Given the description of an element on the screen output the (x, y) to click on. 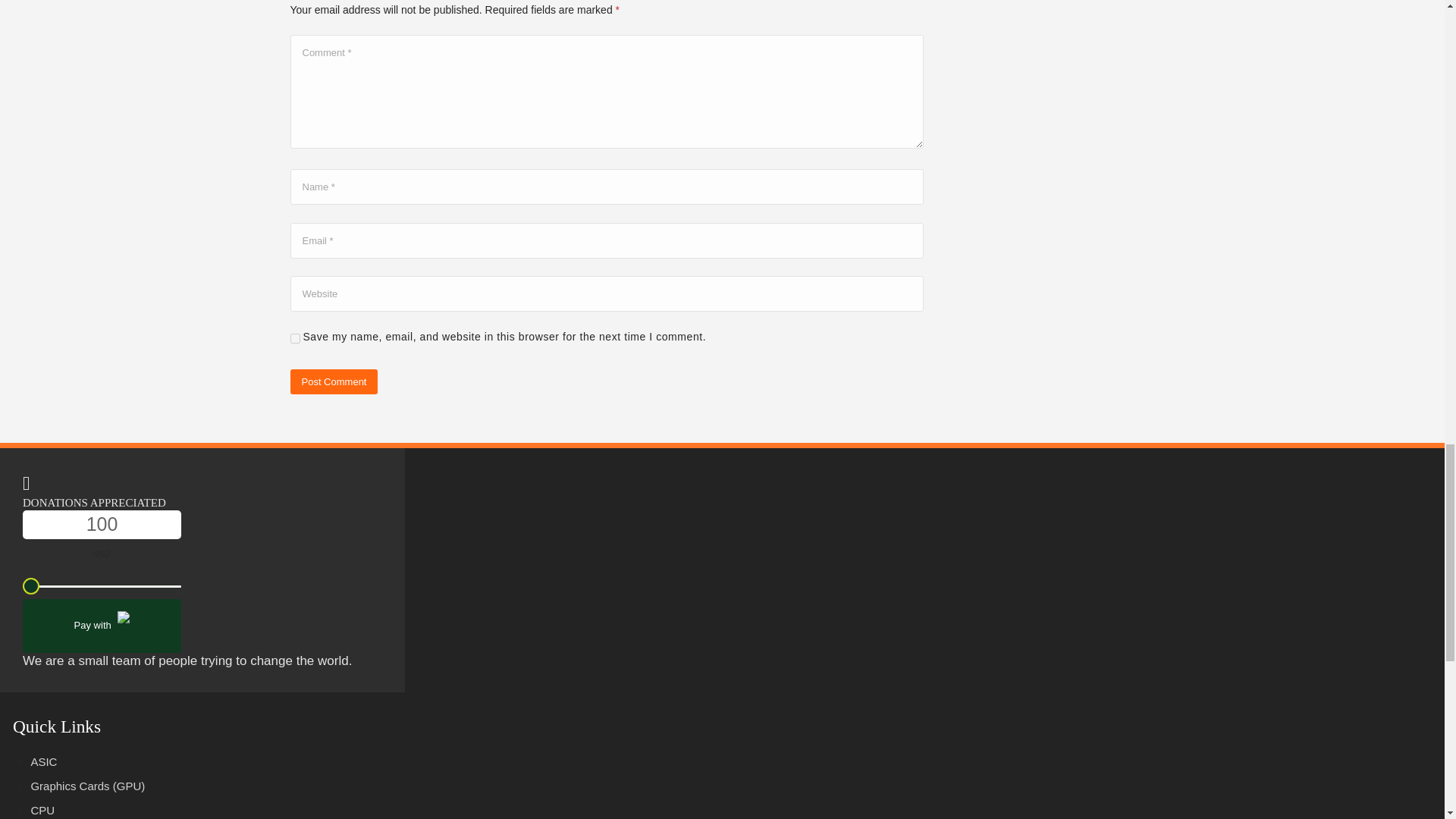
100 (101, 524)
yes (294, 338)
Post Comment (333, 381)
100 (101, 586)
